Given the description of an element on the screen output the (x, y) to click on. 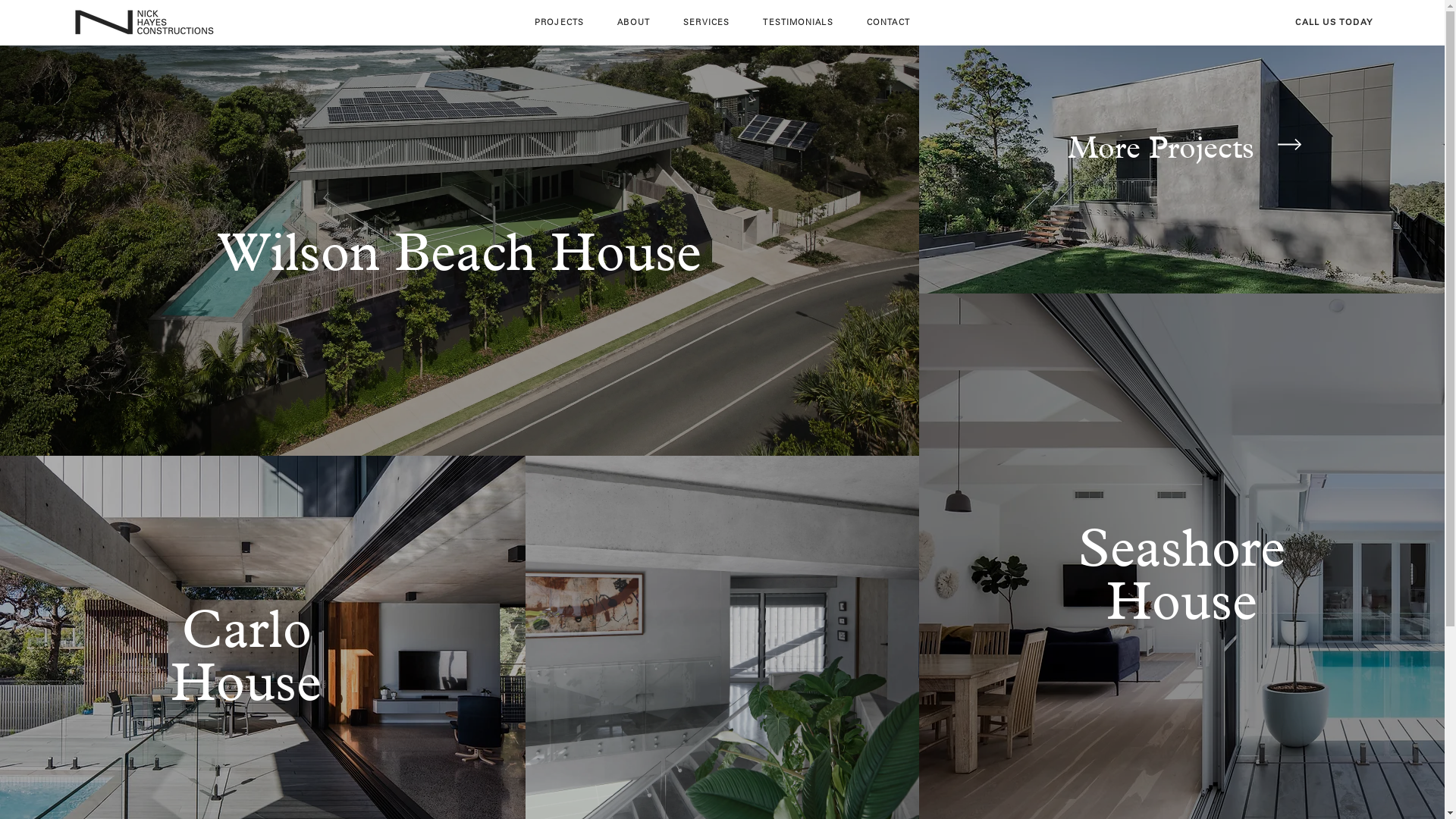
PROJECTS Element type: text (559, 21)
Seashore
House Element type: text (1181, 573)
CONTACT Element type: text (888, 21)
ABOUT Element type: text (633, 21)
TESTIMONIALS Element type: text (797, 21)
Carlo House Element type: text (245, 654)
More Projects Element type: text (1160, 147)
Wilson Beach House Element type: text (459, 251)
CALL US TODAY Element type: text (1333, 21)
SERVICES Element type: text (706, 21)
